Given the description of an element on the screen output the (x, y) to click on. 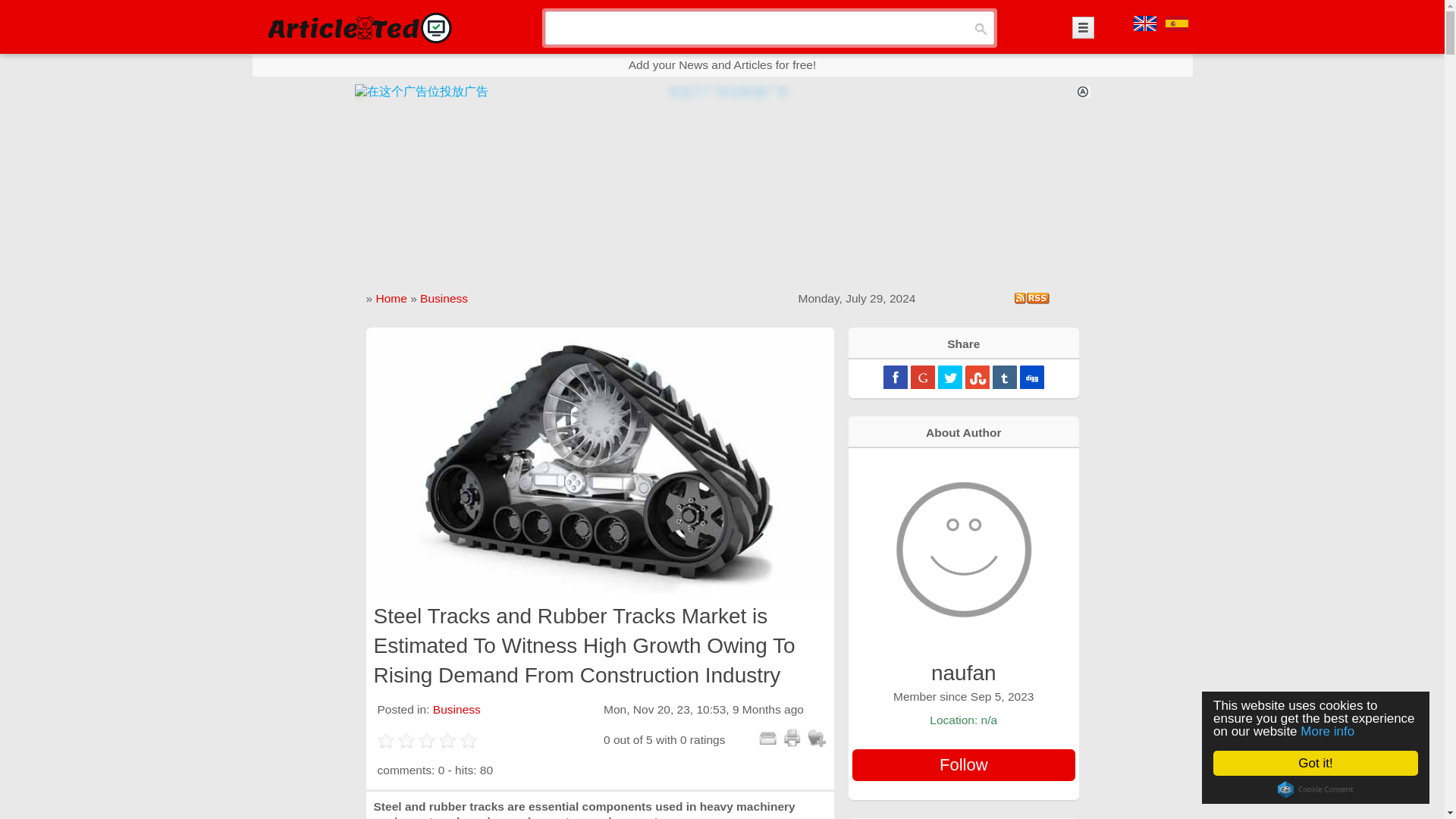
Follow (963, 765)
More info (1341, 730)
Got it! (1329, 763)
Business (443, 297)
ArticleTed -  News and Articles (357, 27)
Business (456, 708)
Cookie Consent plugin for the EU cookie law (1327, 789)
Home (390, 297)
